Given the description of an element on the screen output the (x, y) to click on. 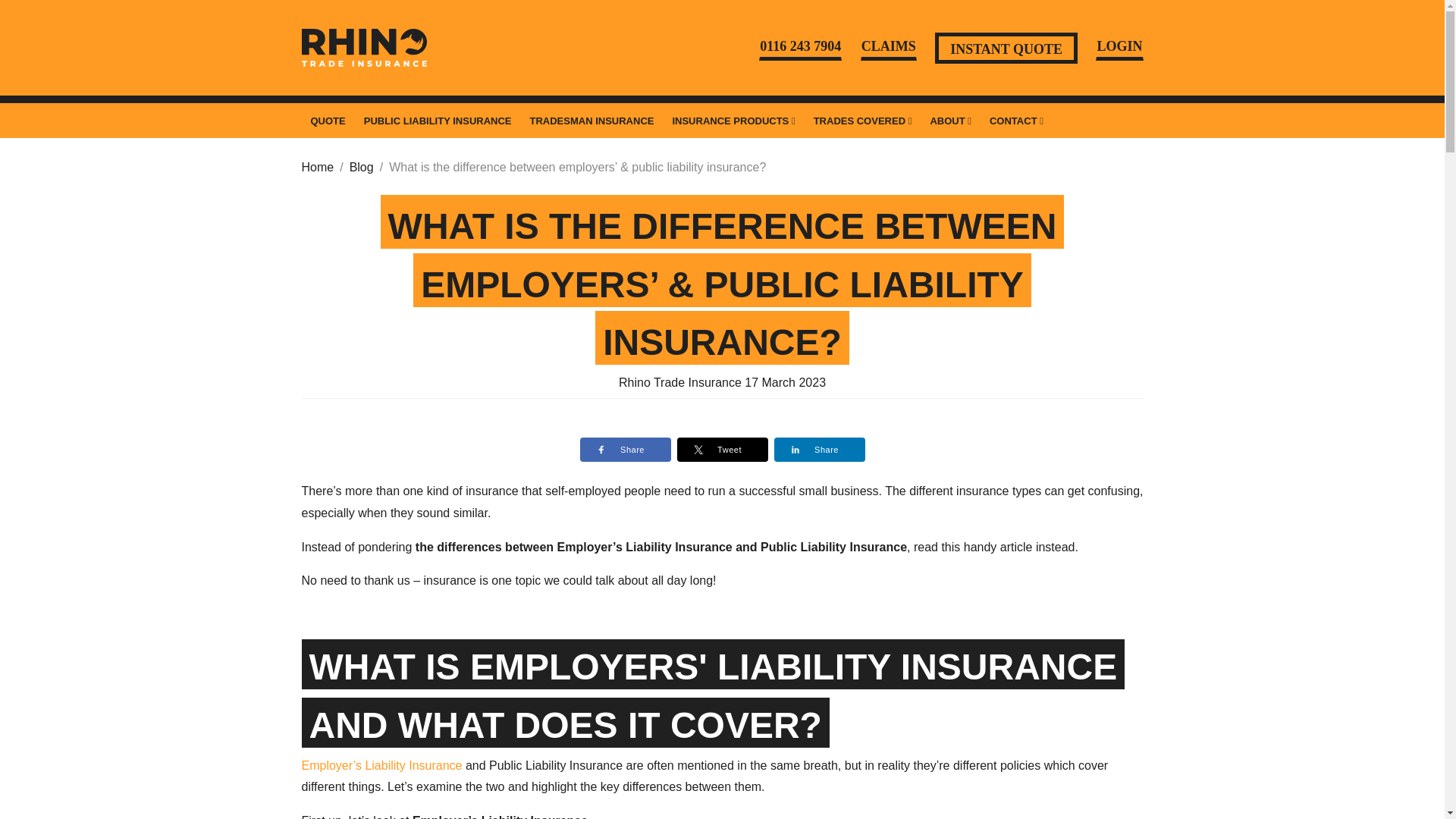
QUOTE (328, 120)
TRADES COVERED (863, 120)
INSTANT QUOTE (1005, 47)
0116 243 7904 (799, 47)
LOGIN (1119, 47)
CLAIMS (888, 47)
Employers' Liability Insurance (382, 765)
CONTACT (1015, 120)
TRADESMAN INSURANCE (590, 120)
PUBLIC LIABILITY INSURANCE (438, 120)
ABOUT (949, 120)
INSURANCE PRODUCTS (732, 120)
Home (317, 168)
